Given the description of an element on the screen output the (x, y) to click on. 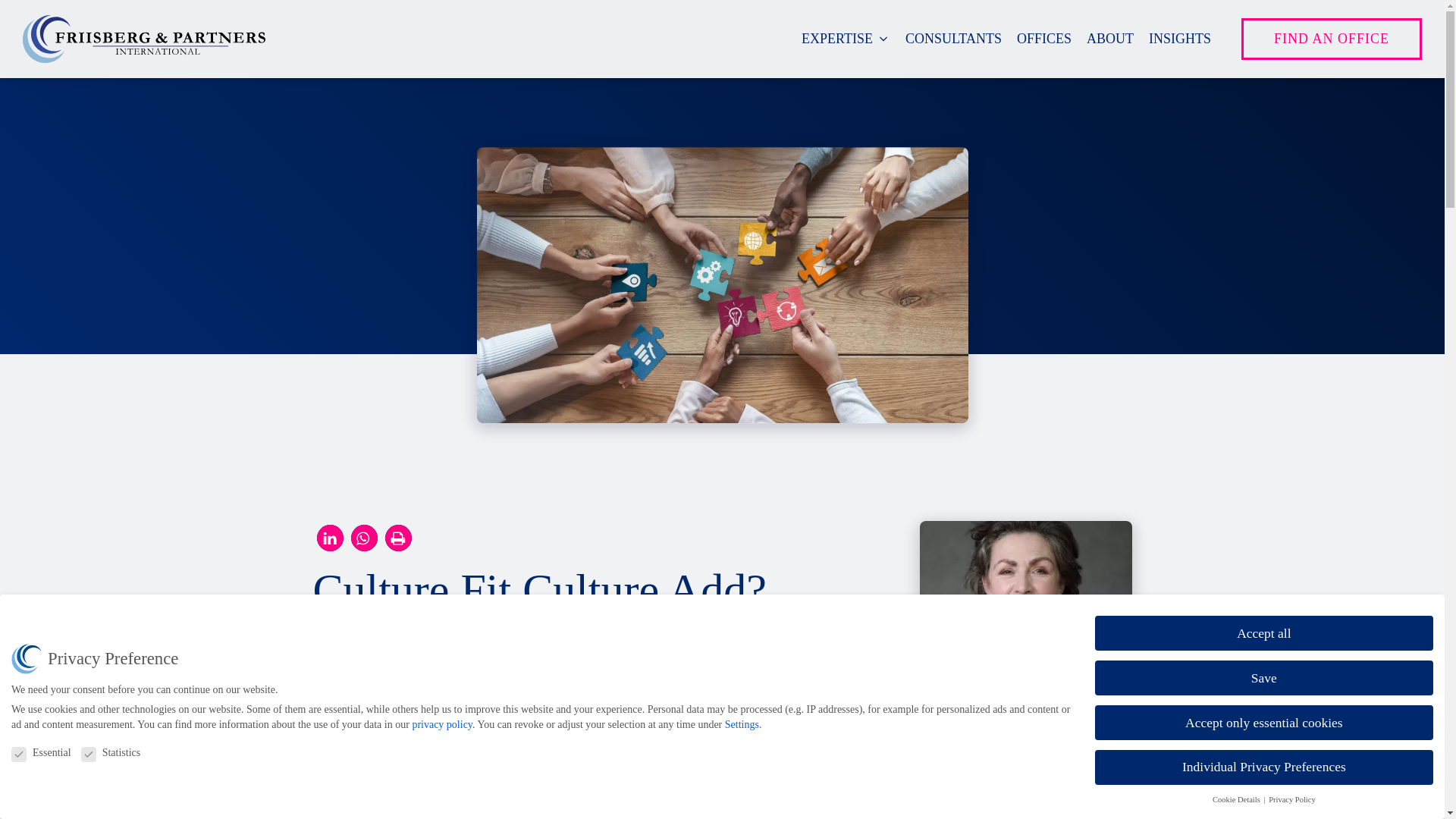
Share on LinkedIn (330, 537)
FIND AN OFFICE (1331, 38)
INSIGHTS (1179, 38)
OFFICES (1043, 38)
Share on Whatsapp (363, 537)
CONSULTANTS (953, 38)
print (398, 537)
EXPERTISE (845, 38)
LEARN MORE (973, 816)
ABOUT (1110, 38)
